Given the description of an element on the screen output the (x, y) to click on. 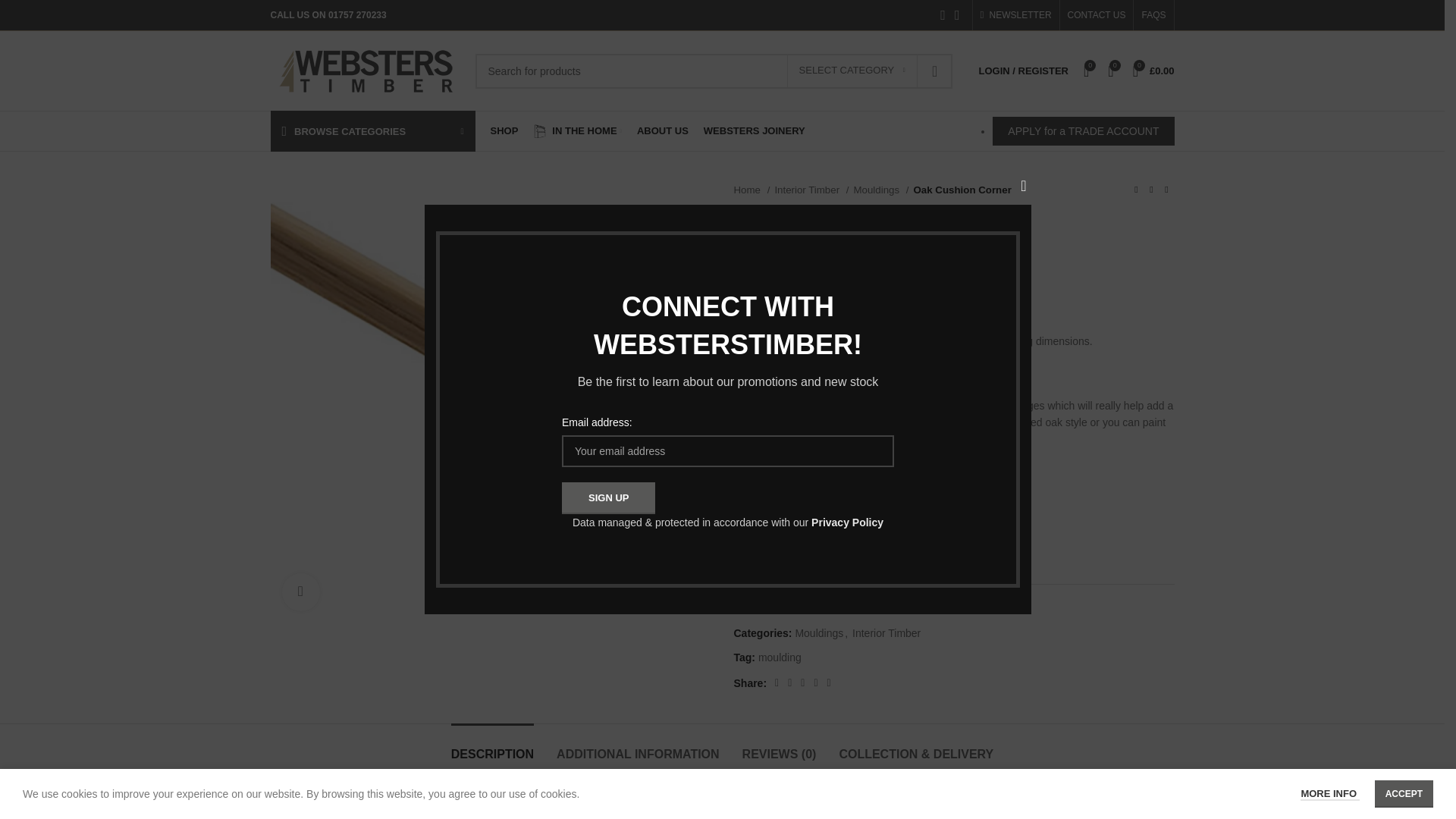
SELECT CATEGORY (852, 70)
Privacy Policy (846, 522)
NEWSLETTER (1015, 15)
CALL US ON 01757 270233 (327, 14)
Search for products (713, 70)
CONTACT US (1096, 15)
My account (1023, 71)
SELECT CATEGORY (852, 70)
Shopping cart (1153, 71)
Sign up (608, 498)
Sign up (608, 498)
